Given the description of an element on the screen output the (x, y) to click on. 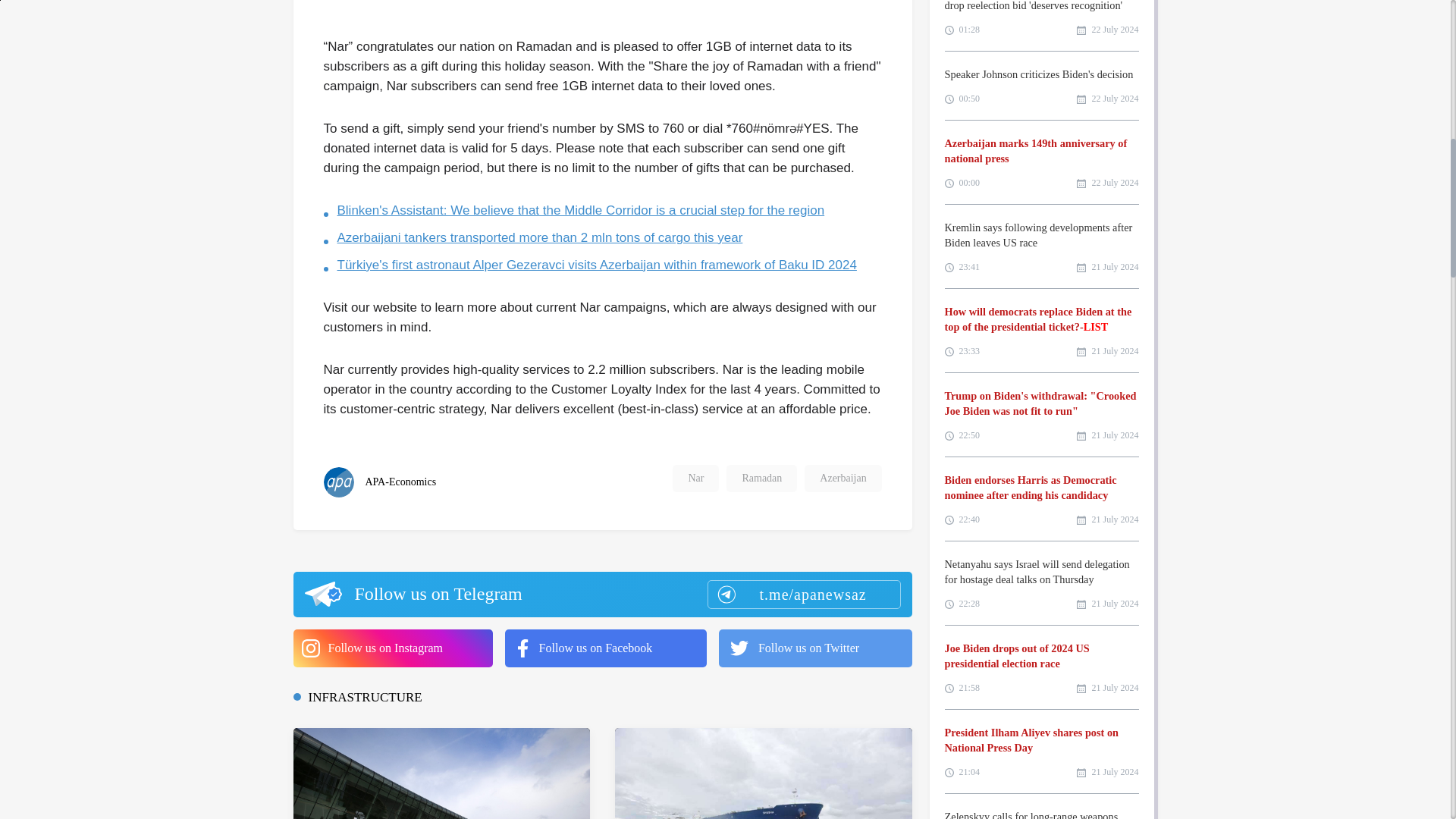
Follow us on Telegram (601, 594)
Follow us on Facebook (605, 648)
Follow us on Instagram (392, 648)
Follow us on Twitter (815, 648)
